Given the description of an element on the screen output the (x, y) to click on. 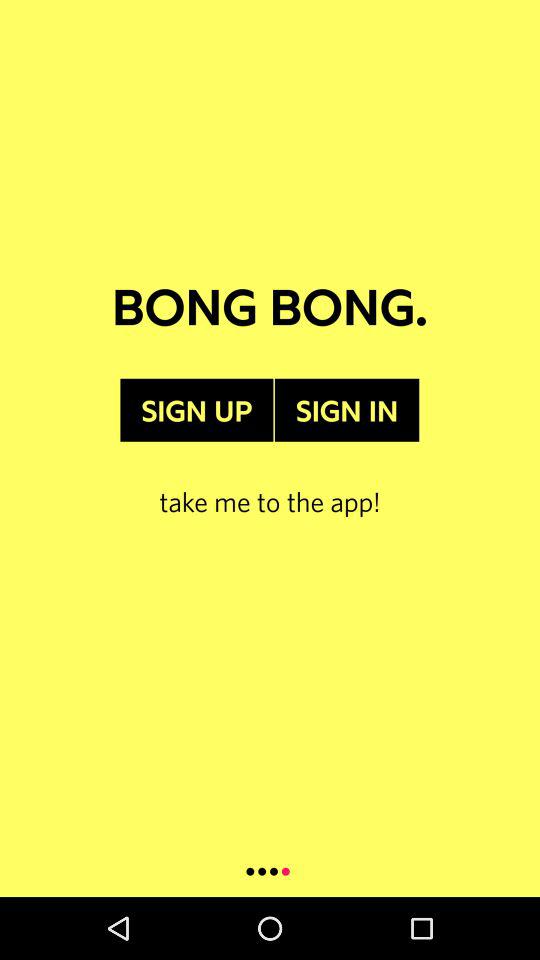
click item to the right of sign up (346, 409)
